Given the description of an element on the screen output the (x, y) to click on. 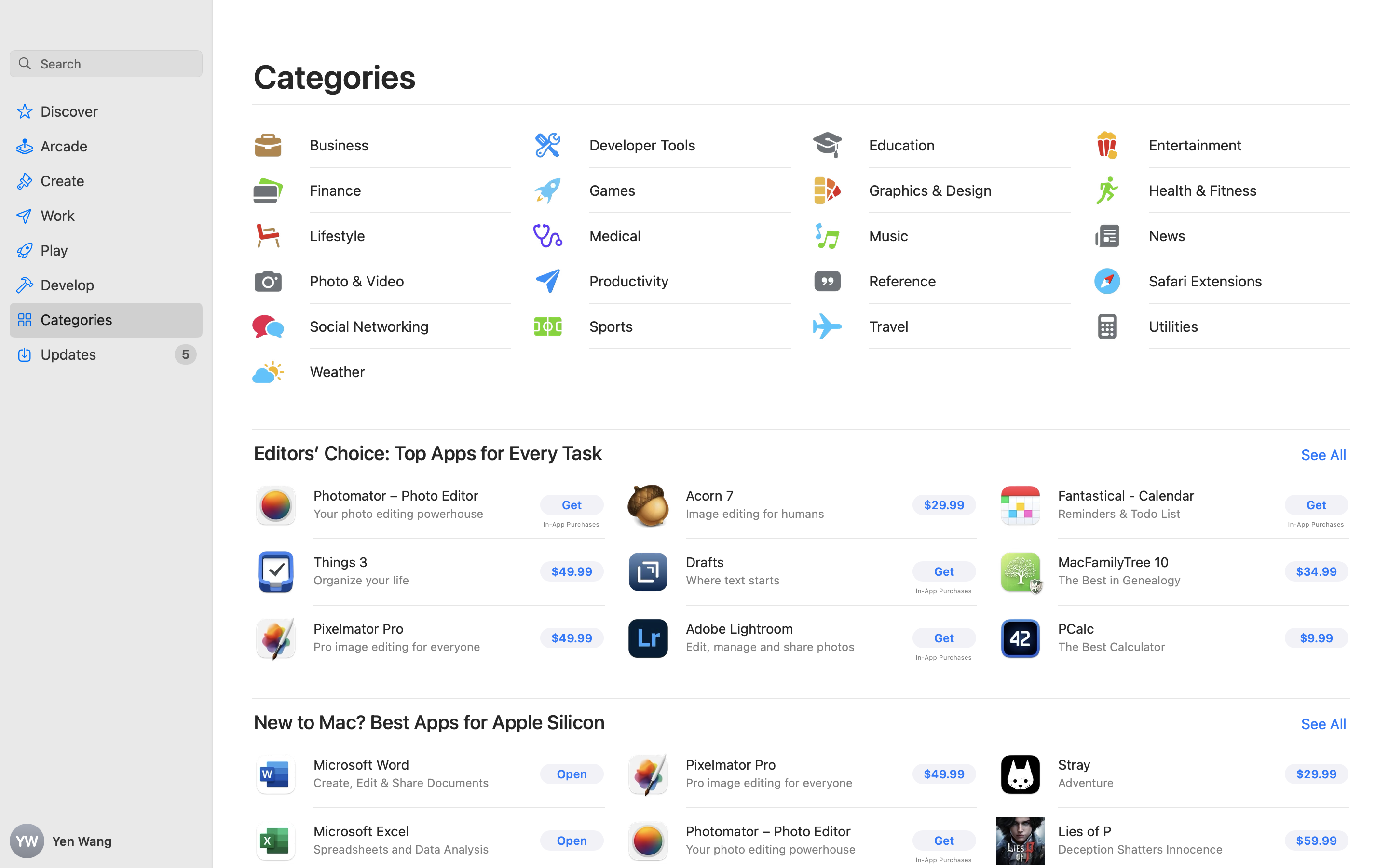
Editors’ Choice: Top Apps for Every Task Element type: AXStaticText (427, 452)
Yen Wang Element type: AXButton (106, 840)
Categories Element type: AXStaticText (334, 75)
New to Mac? Best Apps for Apple Silicon Element type: AXStaticText (428, 721)
